Given the description of an element on the screen output the (x, y) to click on. 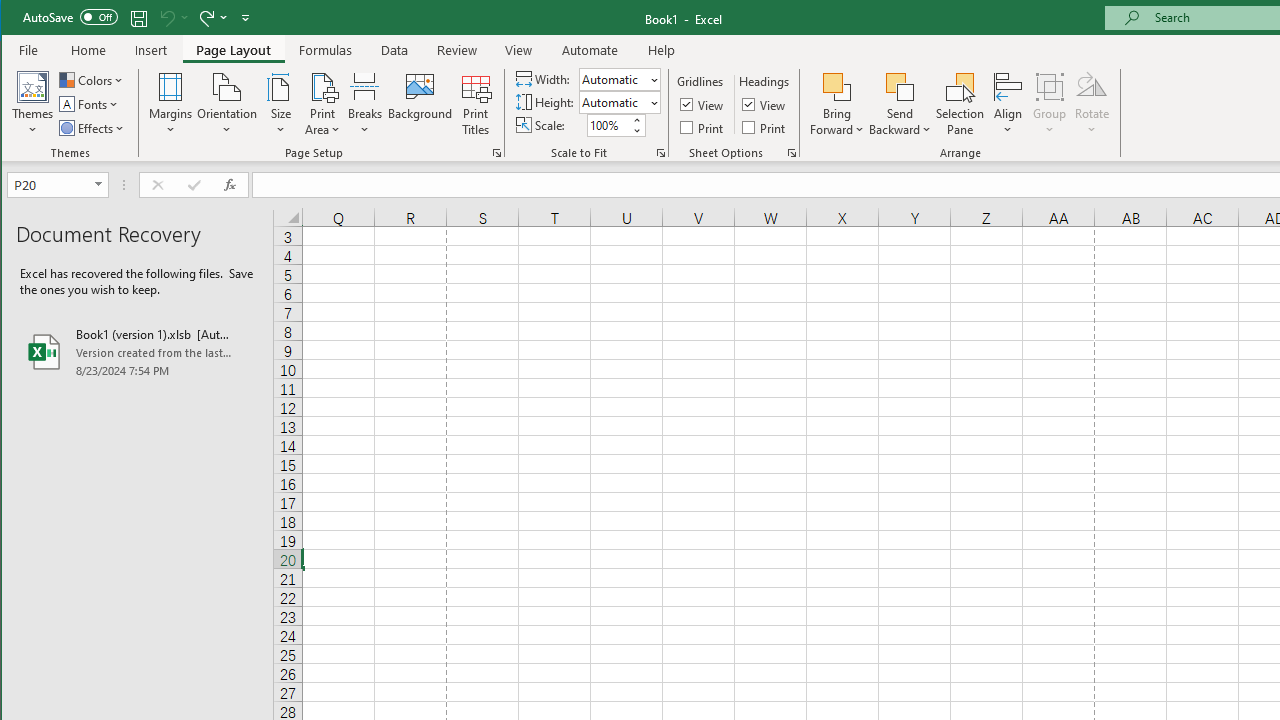
Colors (93, 80)
Align (1007, 104)
Fonts (90, 103)
Margins (170, 104)
Less (636, 130)
Effects (93, 127)
Sheet Options (791, 152)
Print (765, 126)
Bring Forward (836, 104)
